Given the description of an element on the screen output the (x, y) to click on. 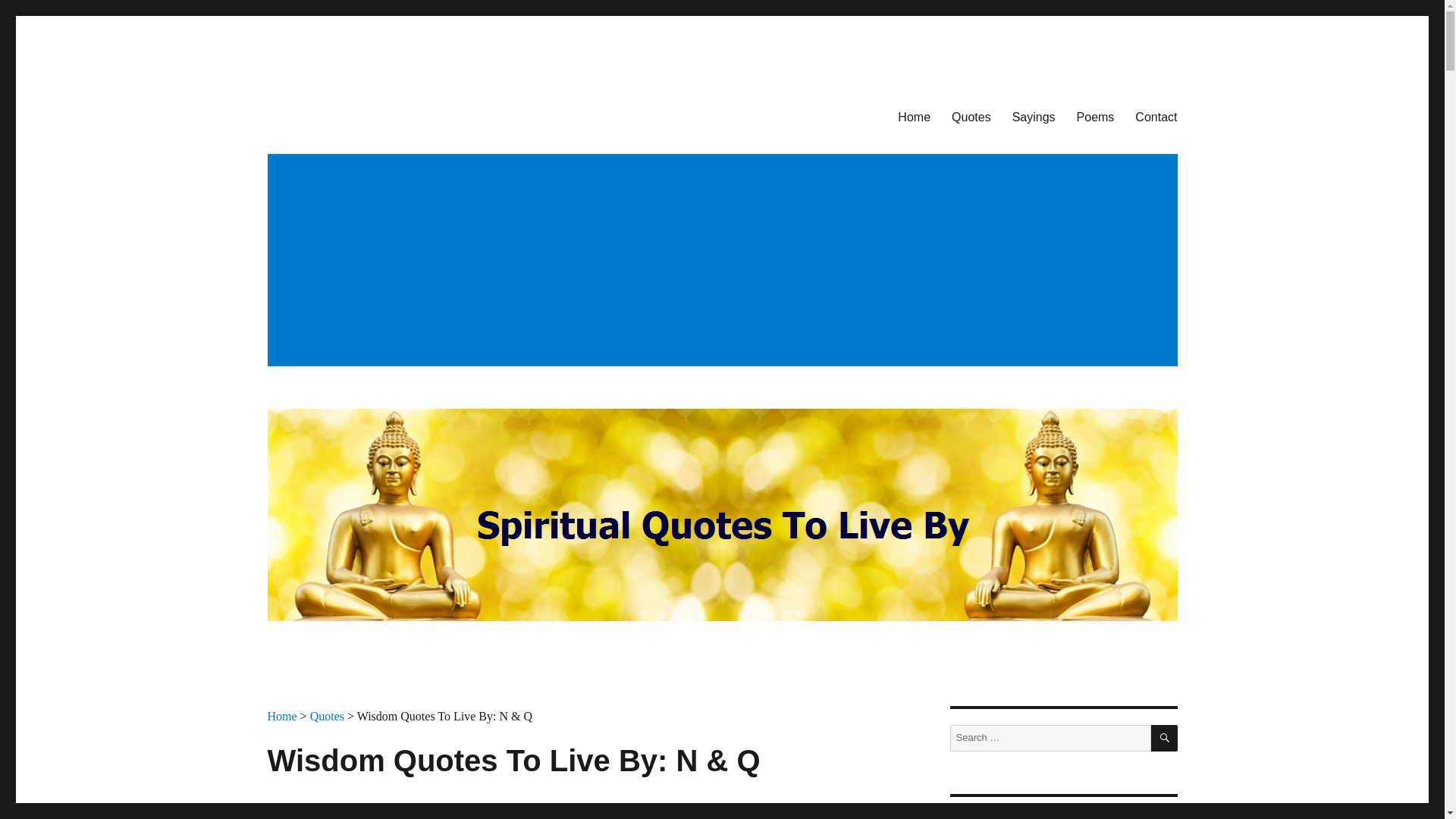
Contact (1156, 116)
Home (913, 116)
Go to the Quotes category archives. (326, 716)
Poems (1095, 116)
Quotes (970, 116)
Quotes (326, 716)
Sayings (1033, 116)
Home (281, 716)
